Given the description of an element on the screen output the (x, y) to click on. 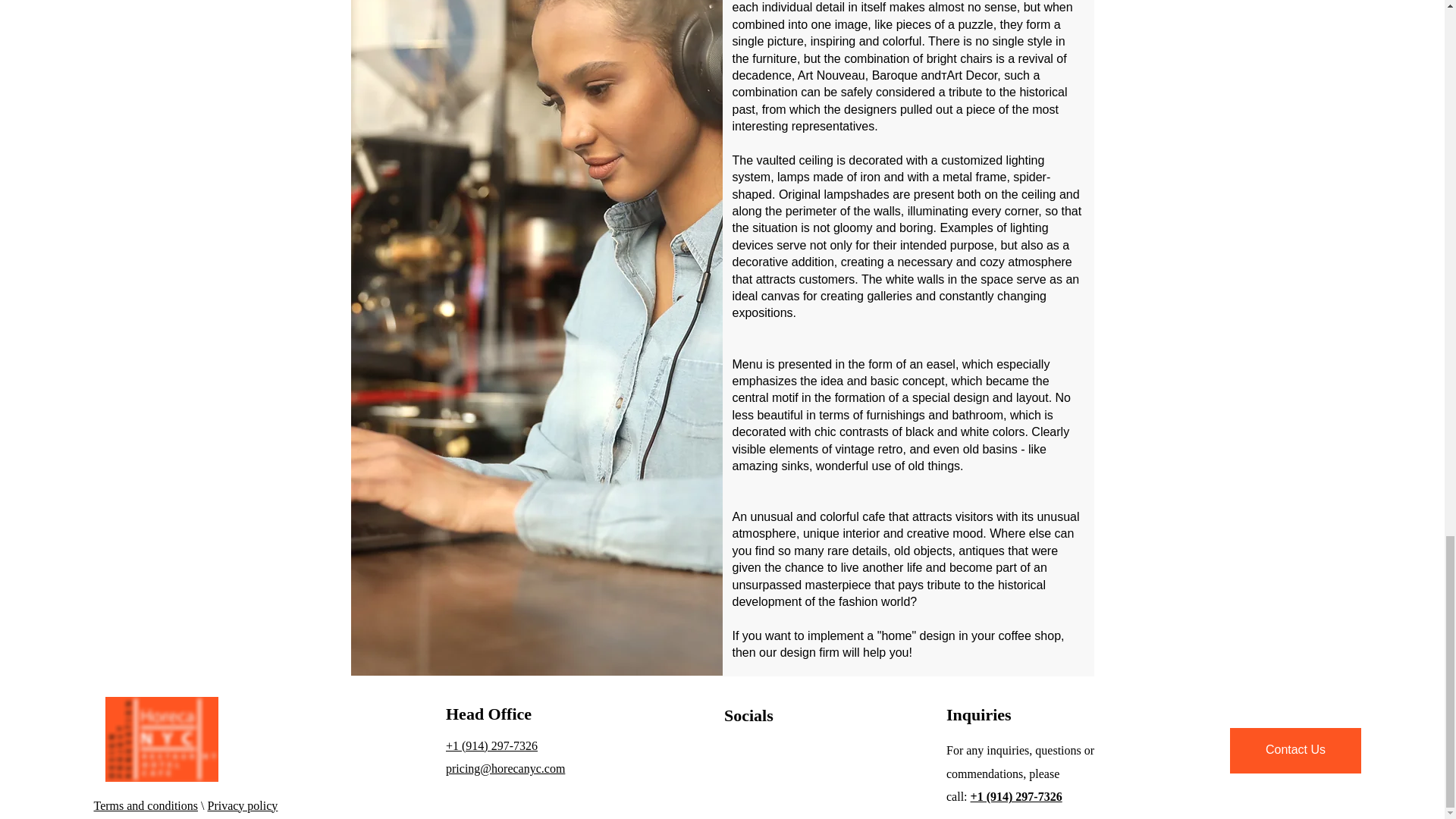
Terms and conditions (146, 805)
Privacy policy (242, 805)
Contact Us (1295, 750)
